Given the description of an element on the screen output the (x, y) to click on. 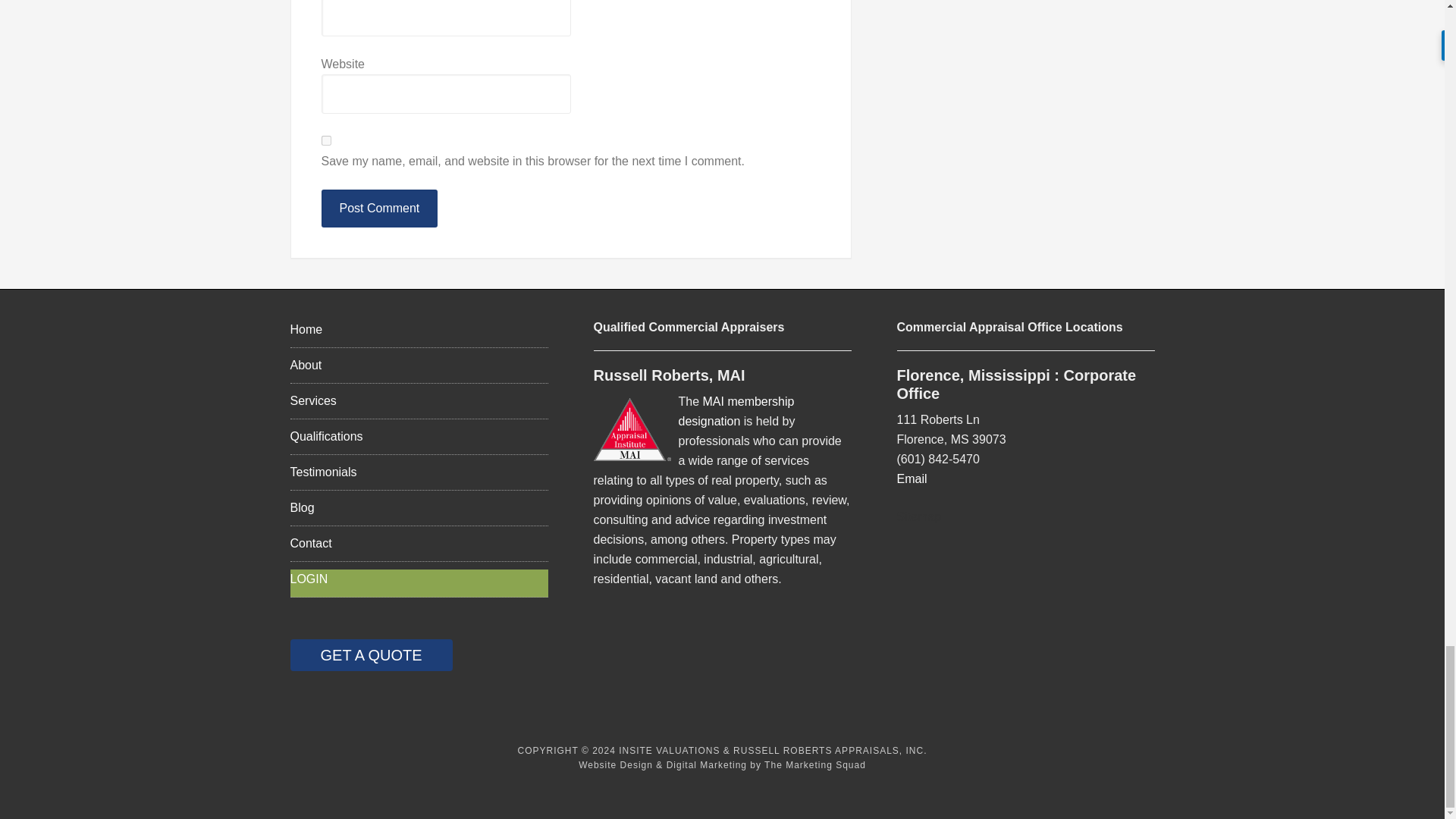
yes (326, 140)
MIA Logo (630, 429)
Post Comment (379, 208)
Post Comment (379, 208)
